Given the description of an element on the screen output the (x, y) to click on. 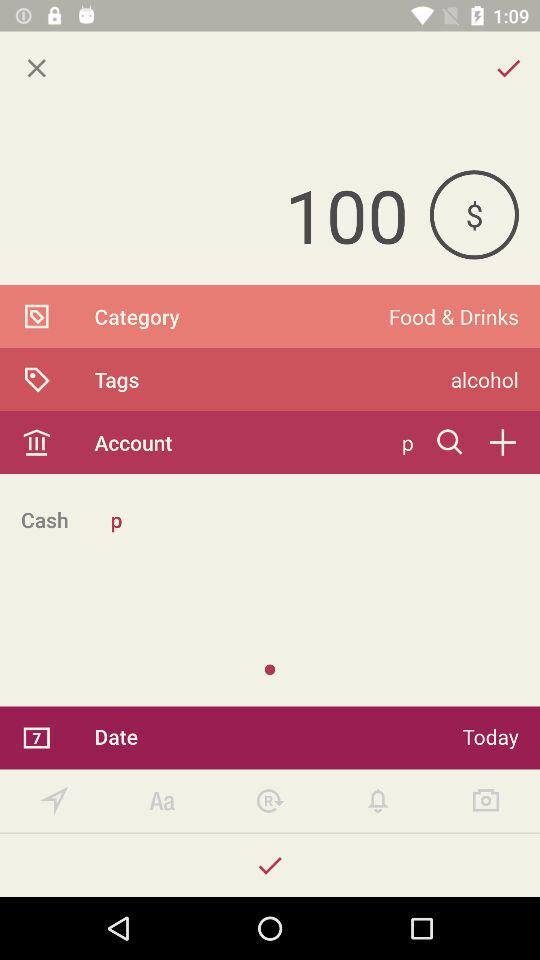
reset settings (270, 800)
